Given the description of an element on the screen output the (x, y) to click on. 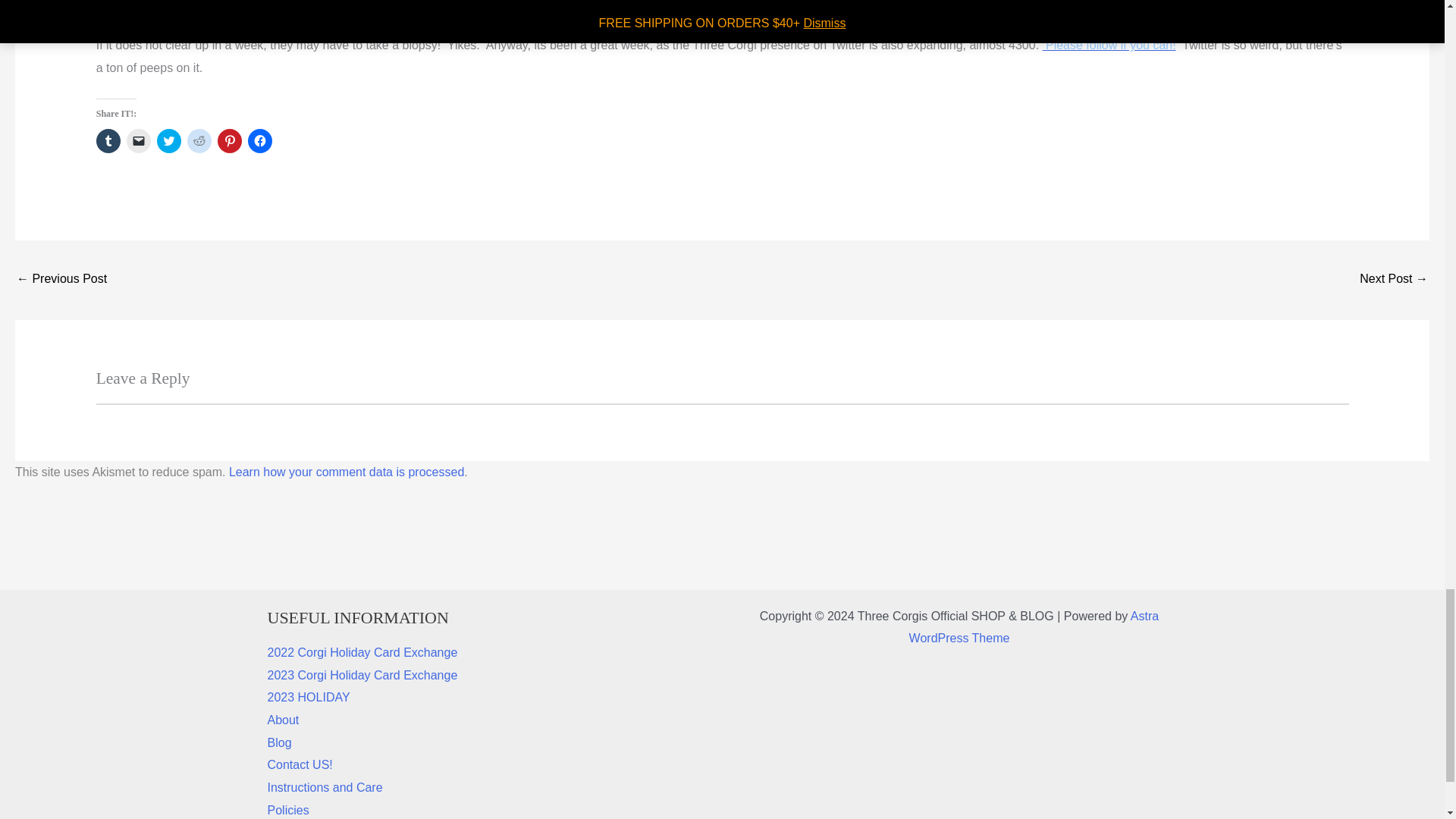
Click to share on Pinterest (228, 140)
Click to share on Facebook (259, 140)
Summer sale blow out (1393, 280)
Click to email a link to a friend (138, 140)
Three Corgis on Twitter (1109, 44)
Click to share on Twitter (168, 140)
Corgi Butts drive you nuts!!! (61, 280)
Click to share on Tumblr (108, 140)
Click to share on Reddit (199, 140)
